Given the description of an element on the screen output the (x, y) to click on. 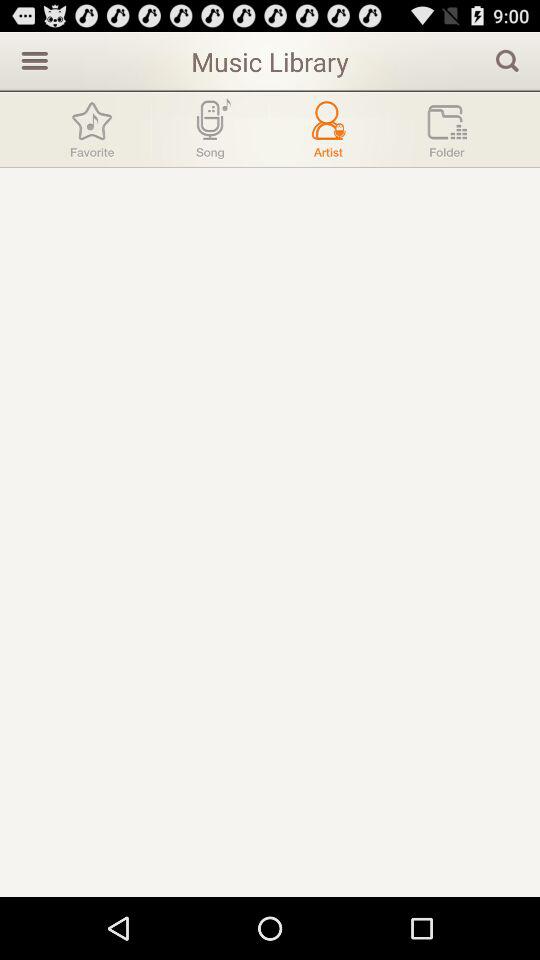
music folder (447, 129)
